Given the description of an element on the screen output the (x, y) to click on. 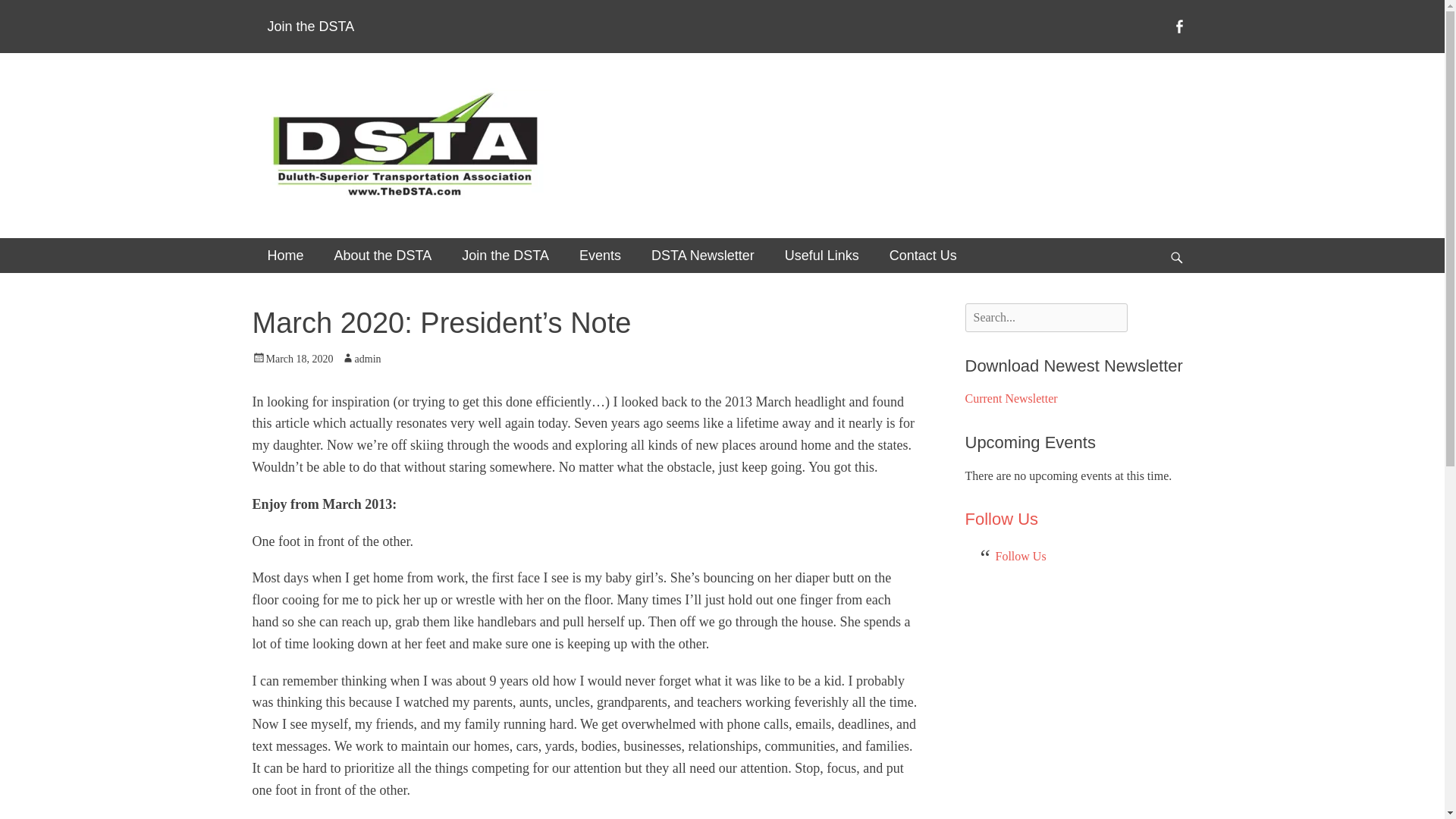
Current Newsletter (1010, 398)
Facebook (1178, 26)
Facebook (1178, 26)
admin (360, 358)
DSTA Newsletter (703, 255)
Join the DSTA (310, 26)
Events (600, 255)
Home (284, 255)
Search for: (1044, 317)
Search (40, 17)
Contact Us (923, 255)
Join the DSTA (505, 255)
